Given the description of an element on the screen output the (x, y) to click on. 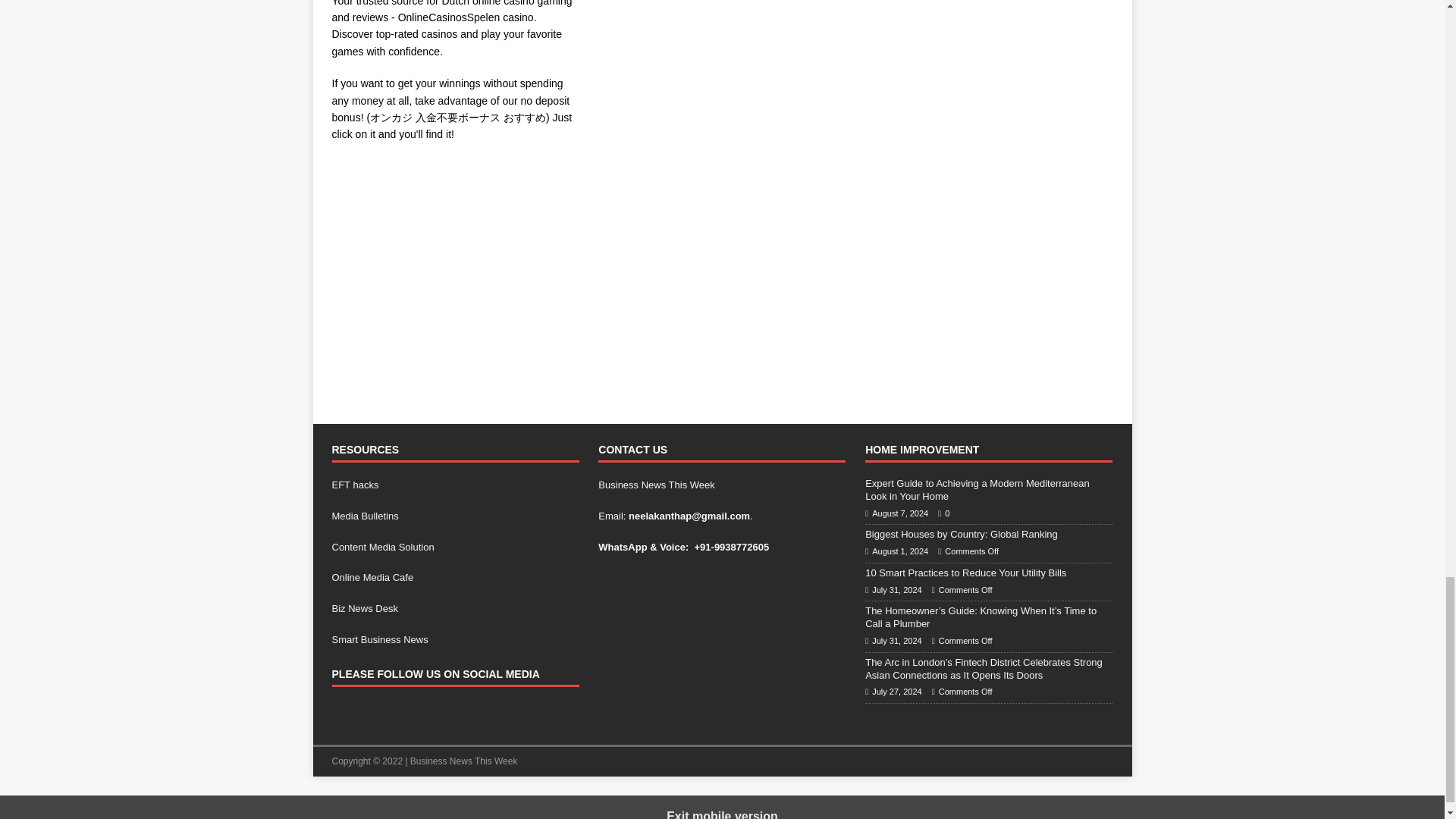
Biggest Houses by Country: Global Ranking (961, 533)
